Given the description of an element on the screen output the (x, y) to click on. 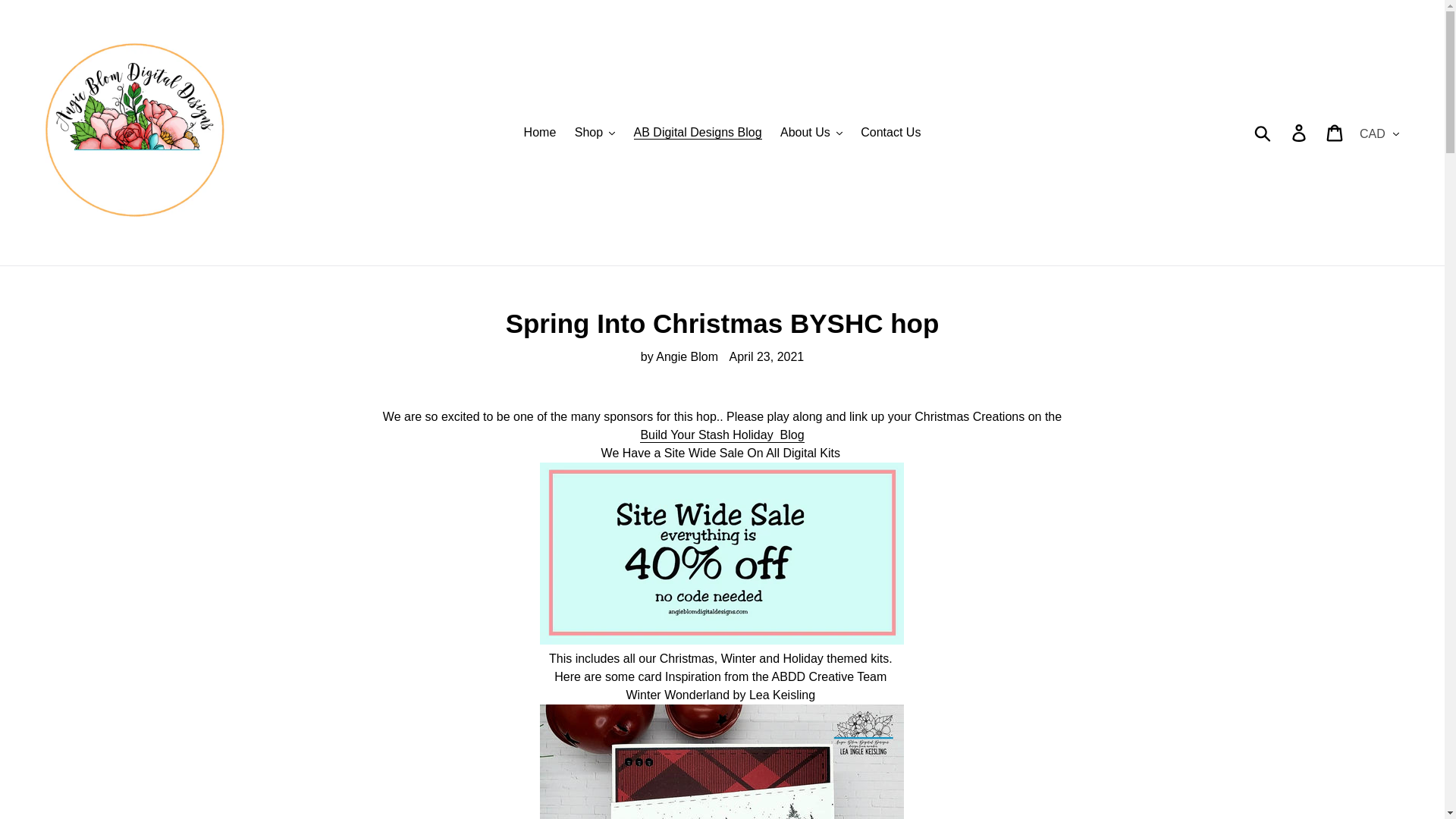
Build Your Holiday Stash  (721, 435)
Home (540, 132)
AB Digital Designs Blog (698, 132)
